Given the description of an element on the screen output the (x, y) to click on. 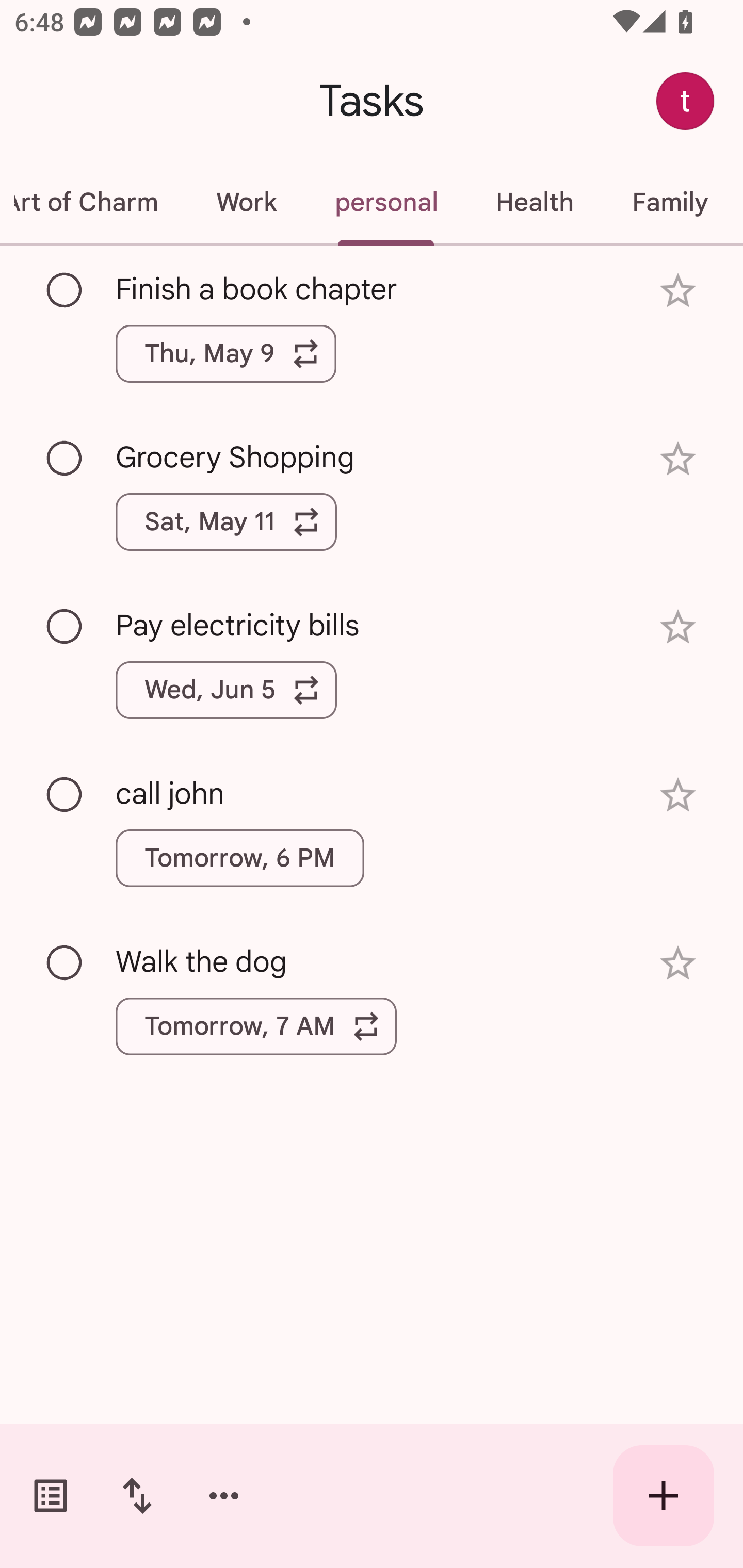
The Art of Charm (93, 202)
Work (245, 202)
Health (534, 202)
Family (669, 202)
Add star (677, 290)
Mark as complete (64, 290)
Thu, May 9 (225, 353)
Add star (677, 458)
Mark as complete (64, 459)
Sat, May 11 (225, 522)
Add star (677, 627)
Mark as complete (64, 627)
Wed, Jun 5 (225, 689)
Add star (677, 795)
Mark as complete (64, 794)
Tomorrow, 6 PM (239, 858)
Add star (677, 963)
Mark as complete (64, 963)
Tomorrow, 7 AM (255, 1026)
Switch task lists (50, 1495)
Create new task (663, 1495)
Change sort order (136, 1495)
More options (223, 1495)
